Given the description of an element on the screen output the (x, y) to click on. 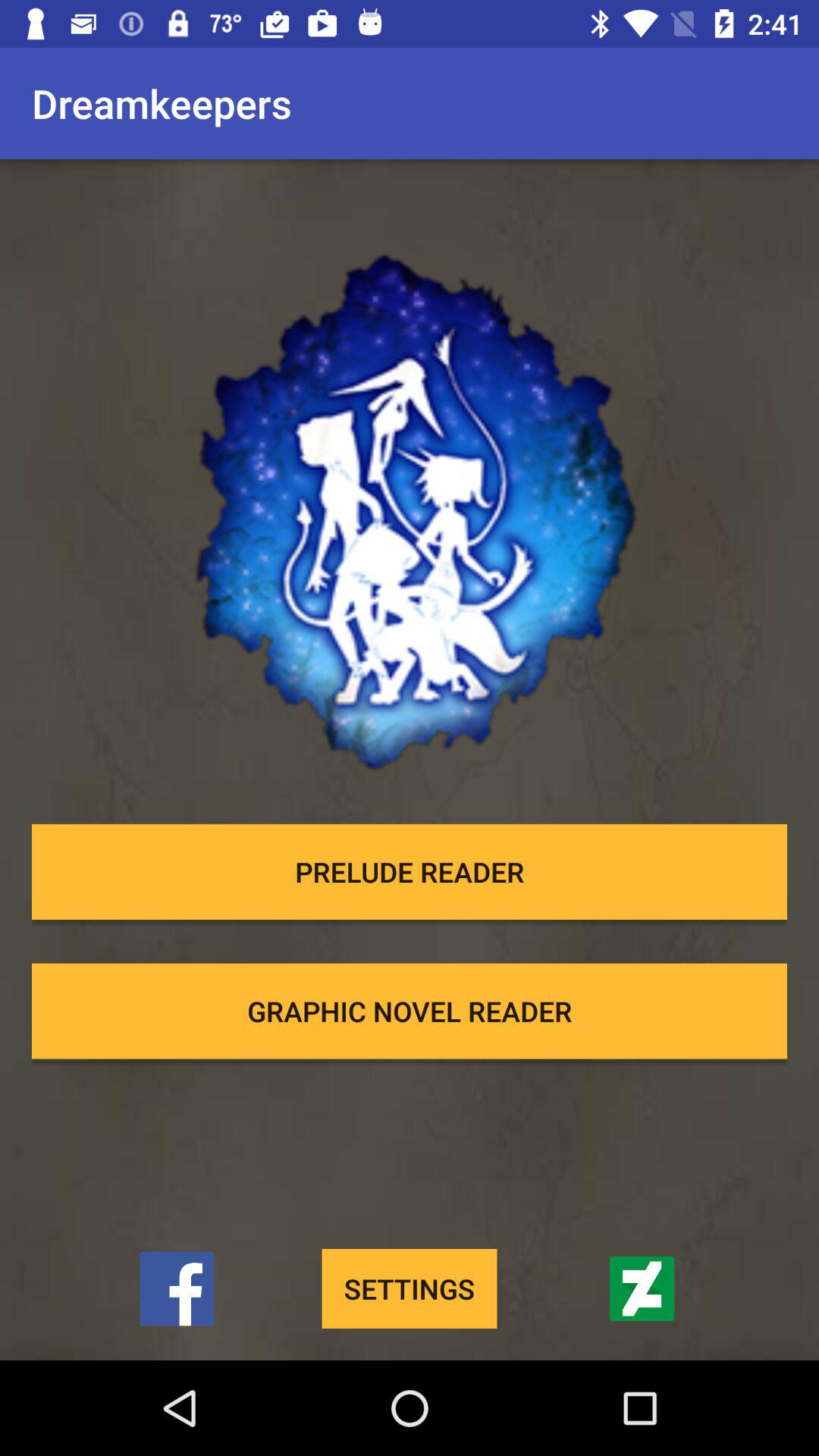
choose item below prelude reader (409, 1011)
